Given the description of an element on the screen output the (x, y) to click on. 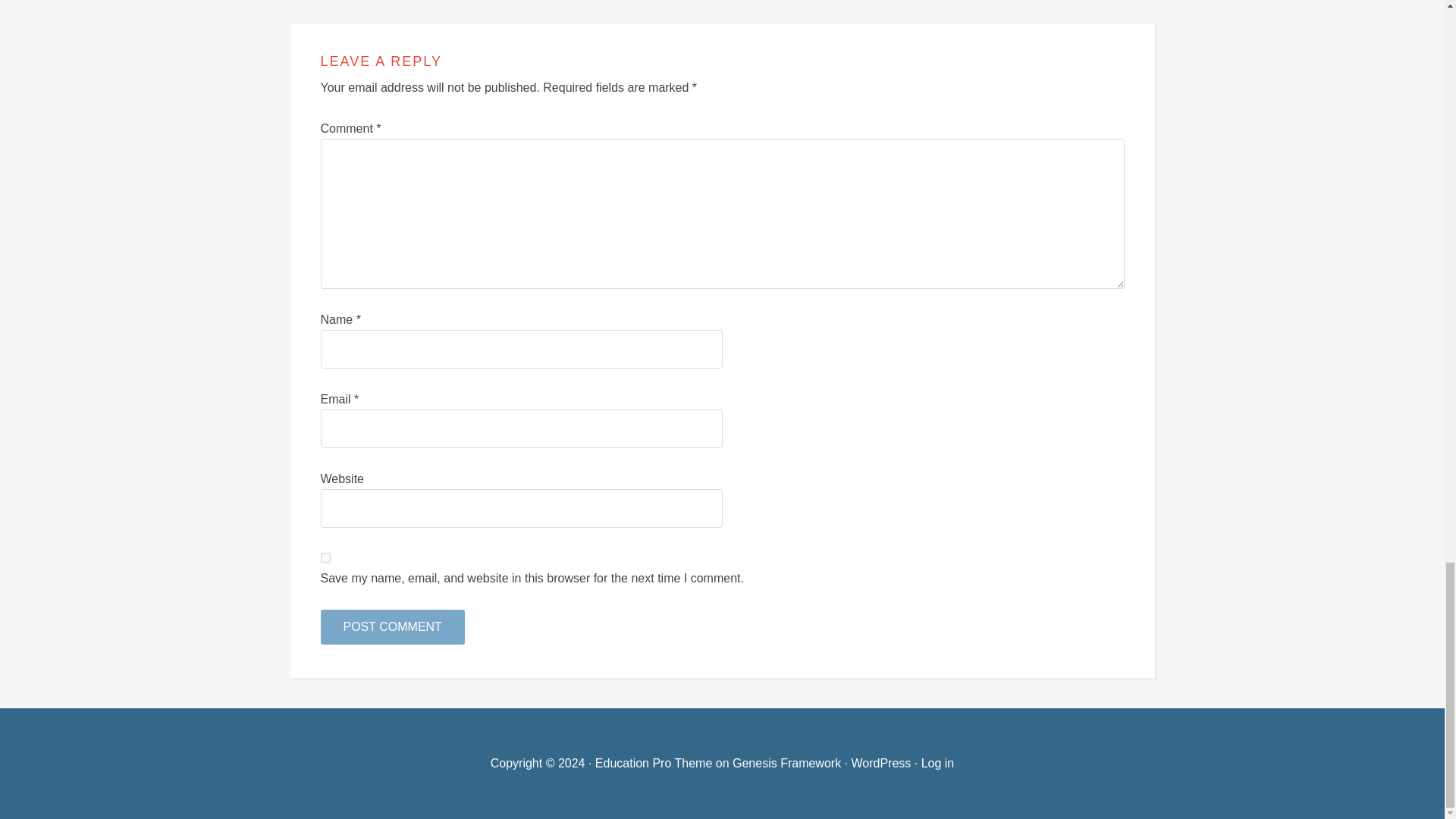
WordPress (880, 762)
Education Pro Theme (653, 762)
Log in (938, 762)
Post Comment (392, 626)
Genesis Framework (786, 762)
Post Comment (392, 626)
yes (325, 557)
